Given the description of an element on the screen output the (x, y) to click on. 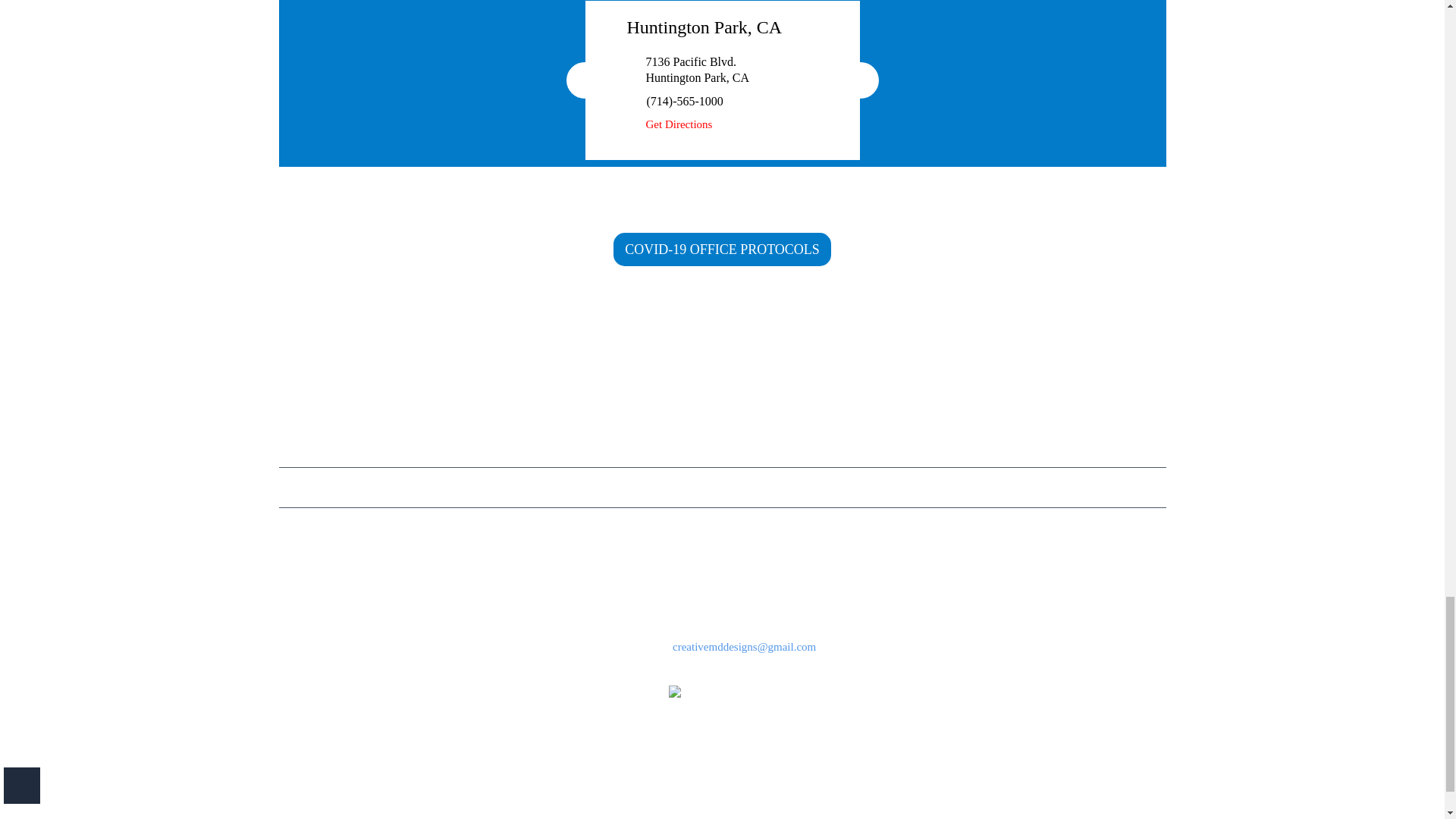
Previous Slide (584, 80)
Next Slide (859, 80)
